Given the description of an element on the screen output the (x, y) to click on. 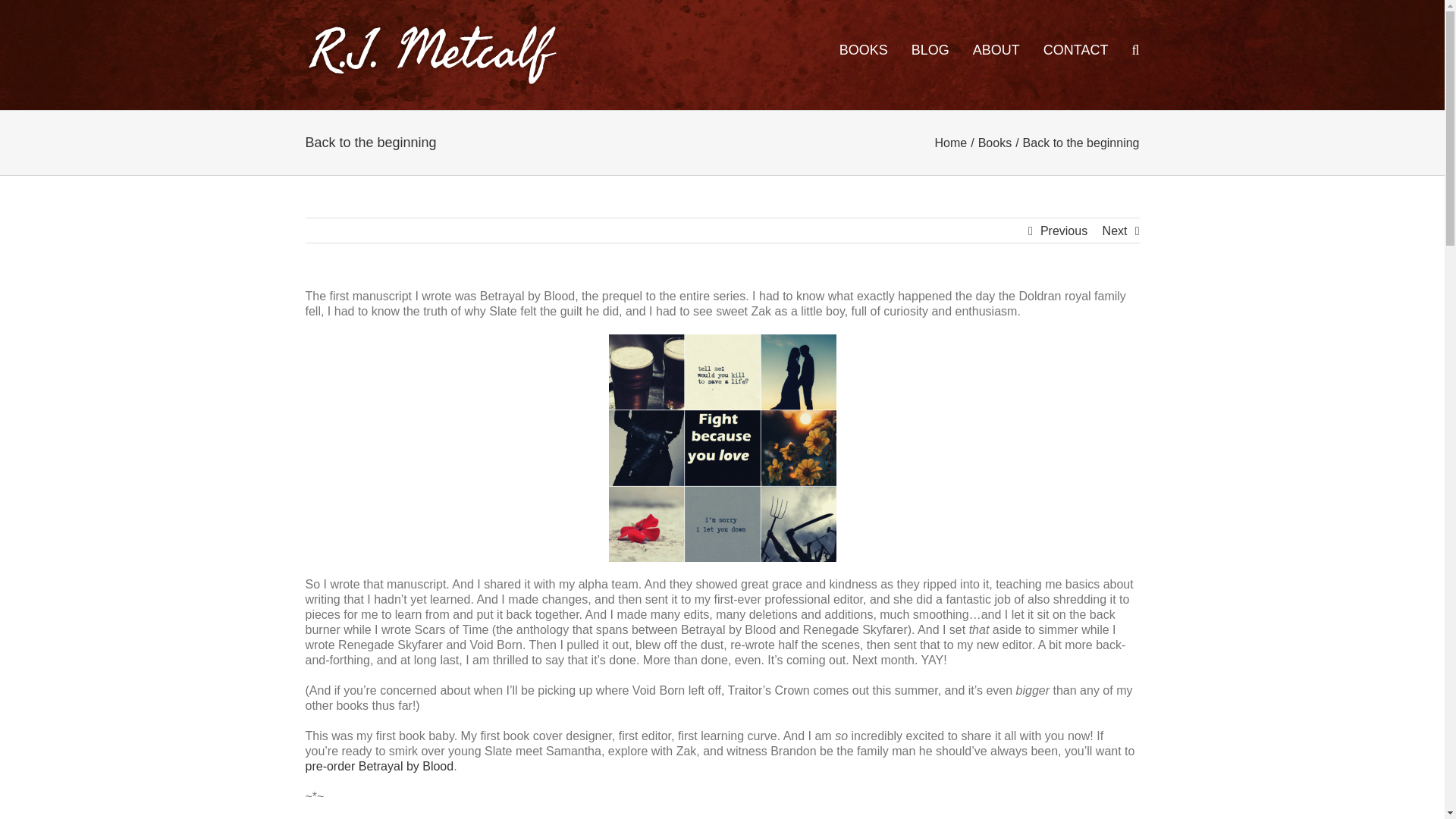
Next (1114, 231)
Books (994, 142)
pre-order Betrayal by Blood (378, 766)
Home (951, 142)
Previous (1064, 231)
